Given the description of an element on the screen output the (x, y) to click on. 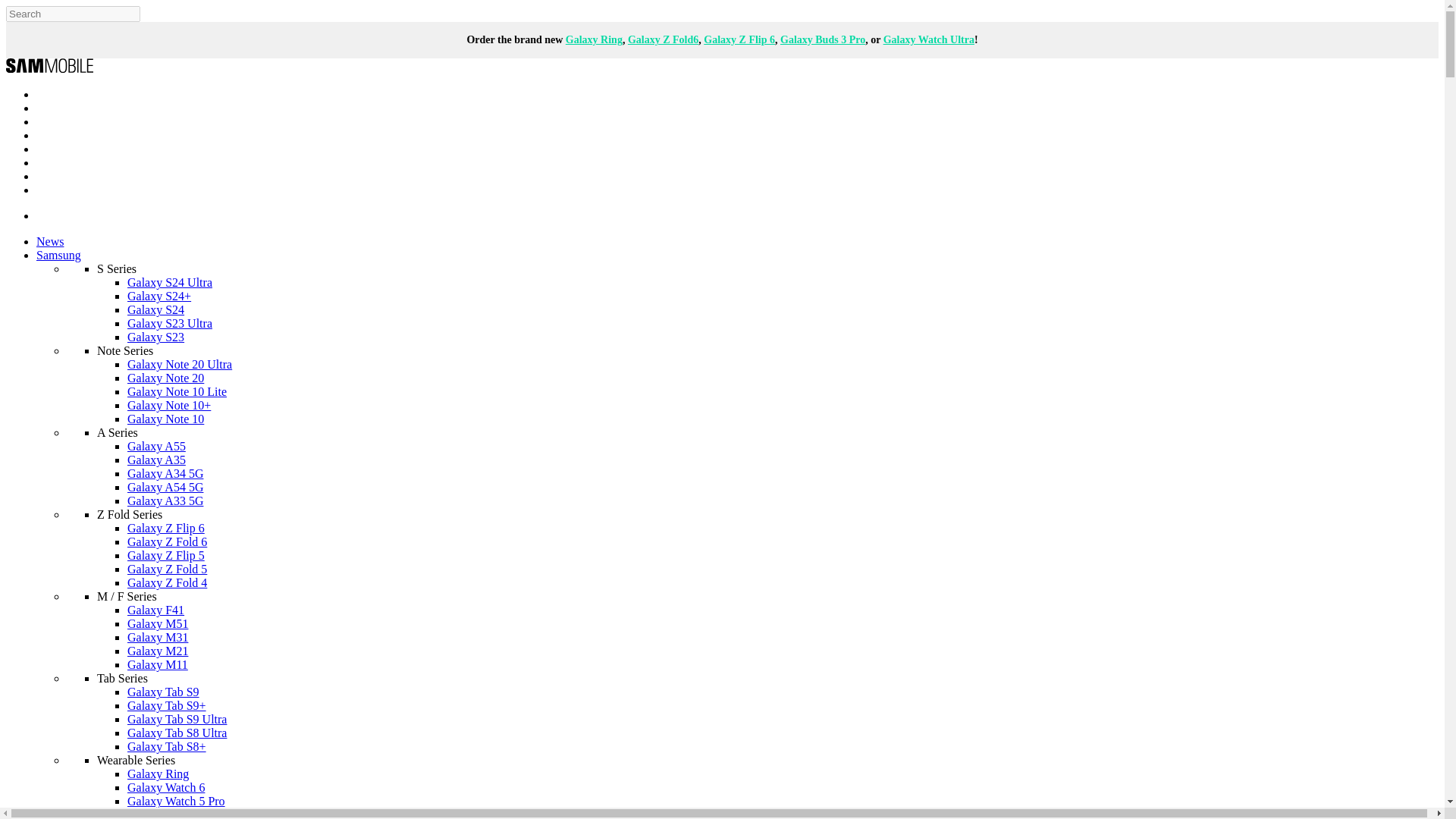
Galaxy Z Fold 5 (167, 568)
Galaxy A35 (157, 459)
Galaxy Note 20 (165, 377)
Samsung Galaxy S24 (156, 309)
Galaxy S23 (156, 336)
Samsung (58, 254)
Galaxy Z Flip 5 (166, 554)
Samsung Galaxy S23 Ultra (170, 323)
Galaxy S24 Ultra (170, 282)
Galaxy Note 10 Lite (177, 391)
Samsung (58, 254)
Galaxy Z Flip 6 (166, 527)
SamMobile logo (49, 68)
Samsung Galaxy S Series (116, 268)
Galaxy Ring (594, 39)
